Given the description of an element on the screen output the (x, y) to click on. 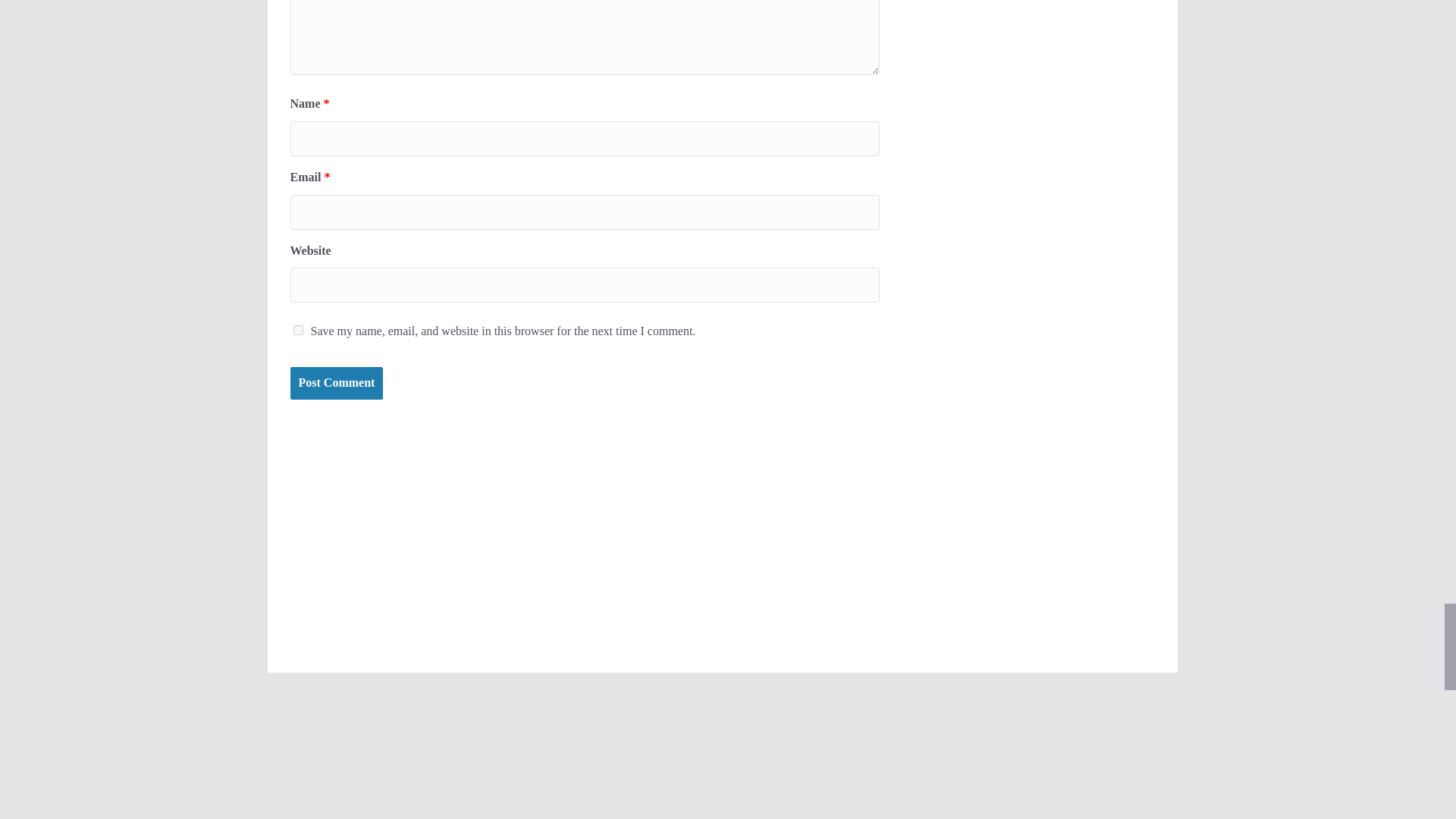
Post Comment (335, 382)
yes (297, 329)
